Given the description of an element on the screen output the (x, y) to click on. 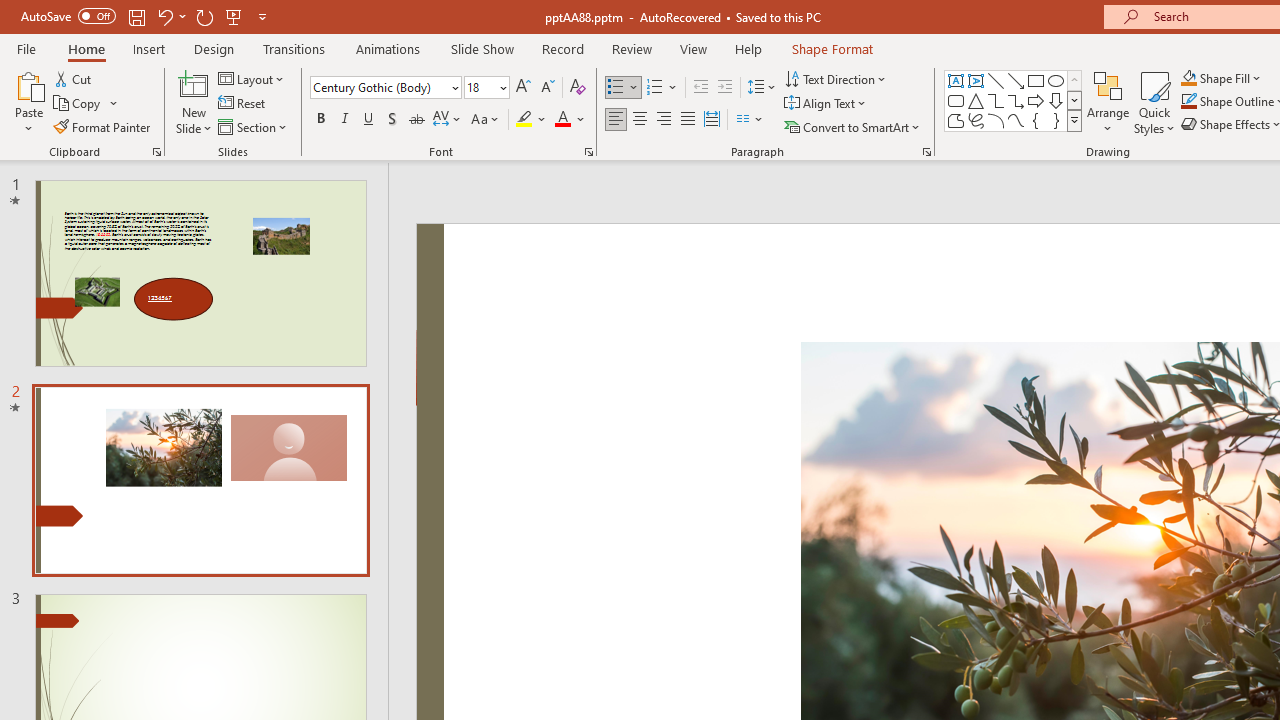
Section (254, 126)
Cut (73, 78)
Bullets (623, 87)
Connector: Elbow (995, 100)
Underline (369, 119)
Office Clipboard... (156, 151)
Font... (588, 151)
Vertical Text Box (975, 80)
Shape Outline Teal, Accent 1 (1188, 101)
AutomationID: ShapesInsertGallery (1014, 100)
Convert to SmartArt (853, 126)
